Given the description of an element on the screen output the (x, y) to click on. 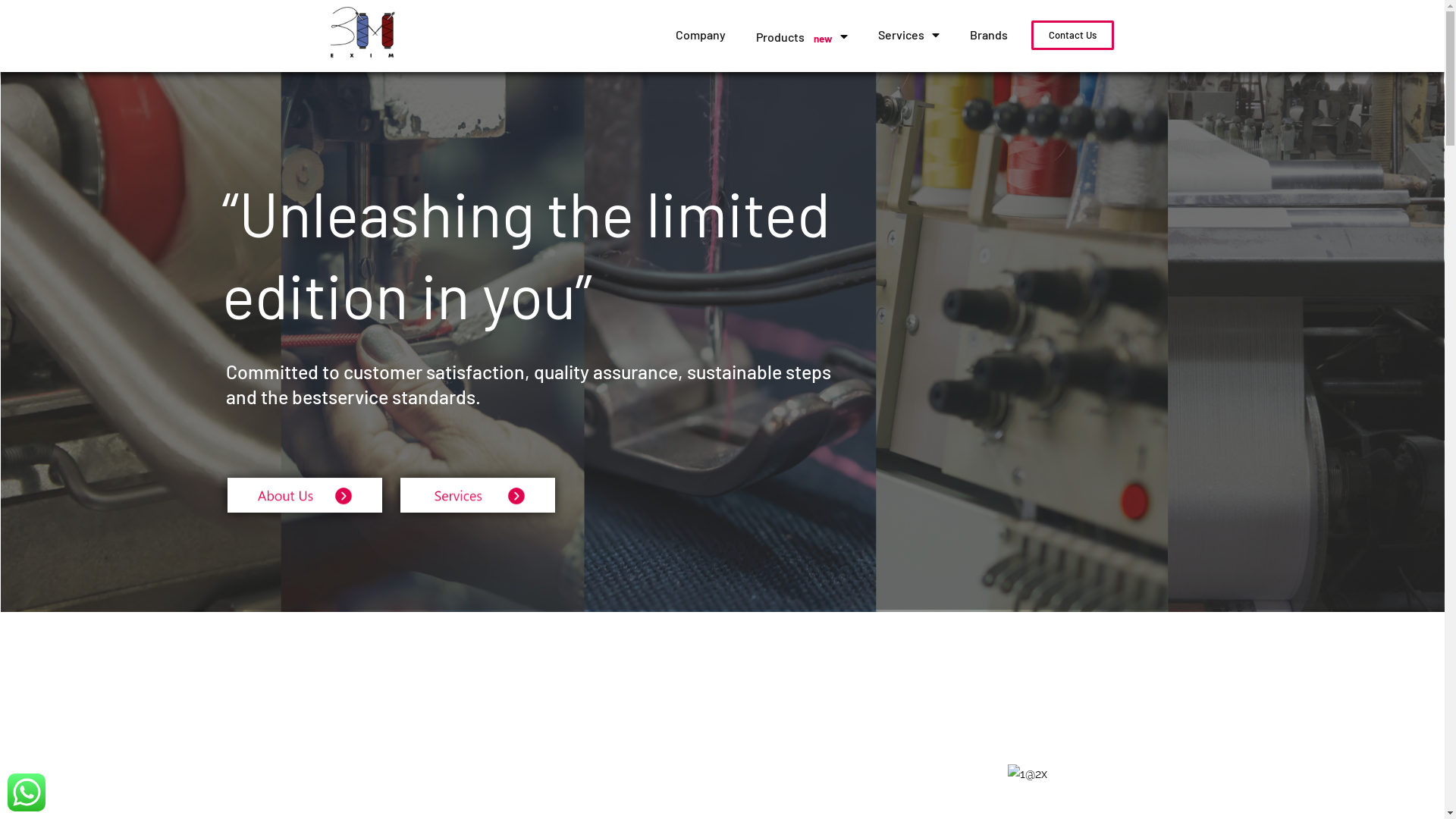
1@2x Element type: hover (1027, 774)
Products
new Element type: text (801, 36)
Services Element type: text (908, 34)
Company Element type: text (700, 34)
Contact Us Element type: text (1072, 35)
Brands Element type: text (988, 34)
